Given the description of an element on the screen output the (x, y) to click on. 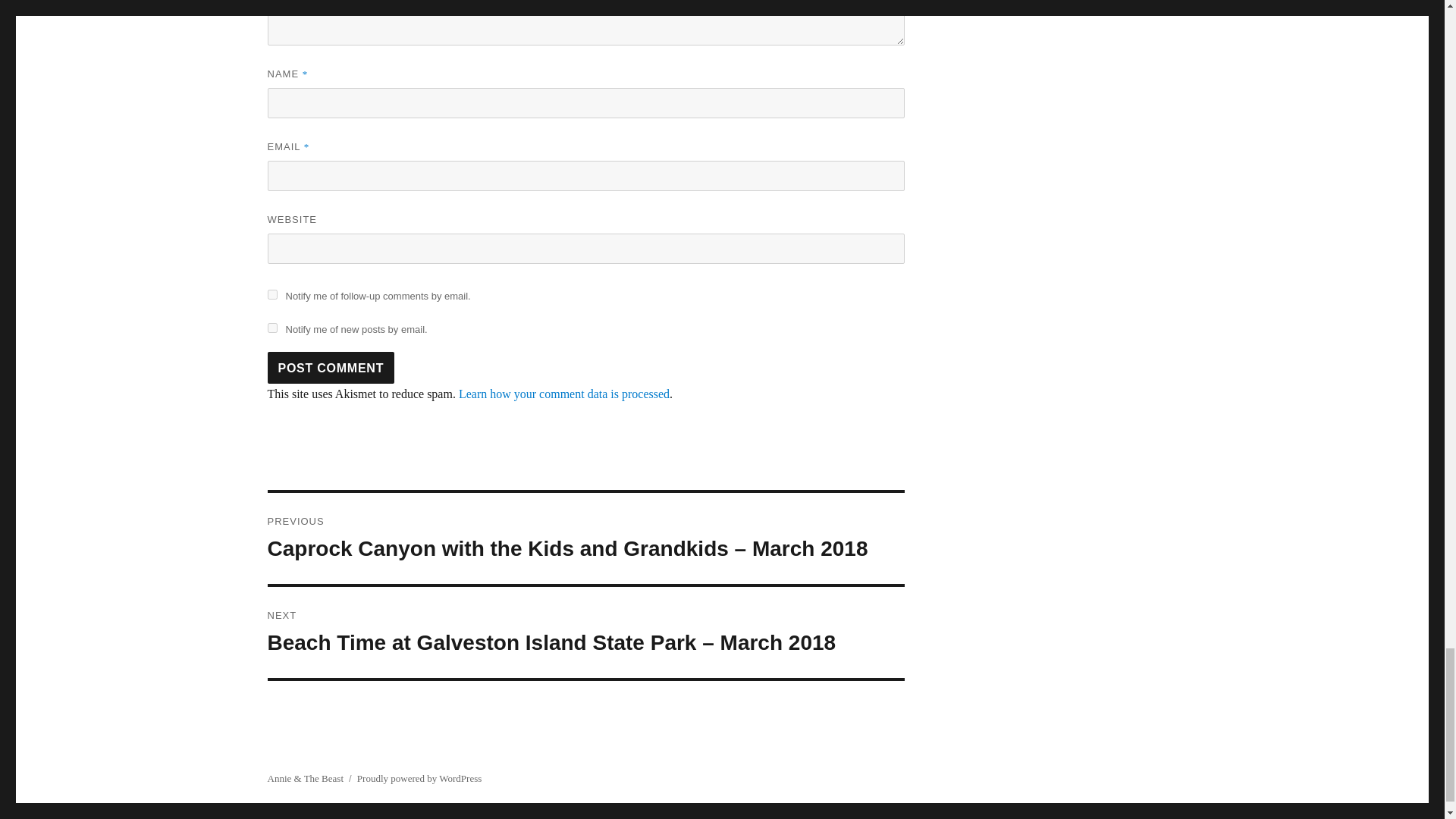
Post Comment (330, 368)
subscribe (271, 327)
subscribe (271, 294)
Post Comment (330, 368)
Learn how your comment data is processed (563, 393)
